Given the description of an element on the screen output the (x, y) to click on. 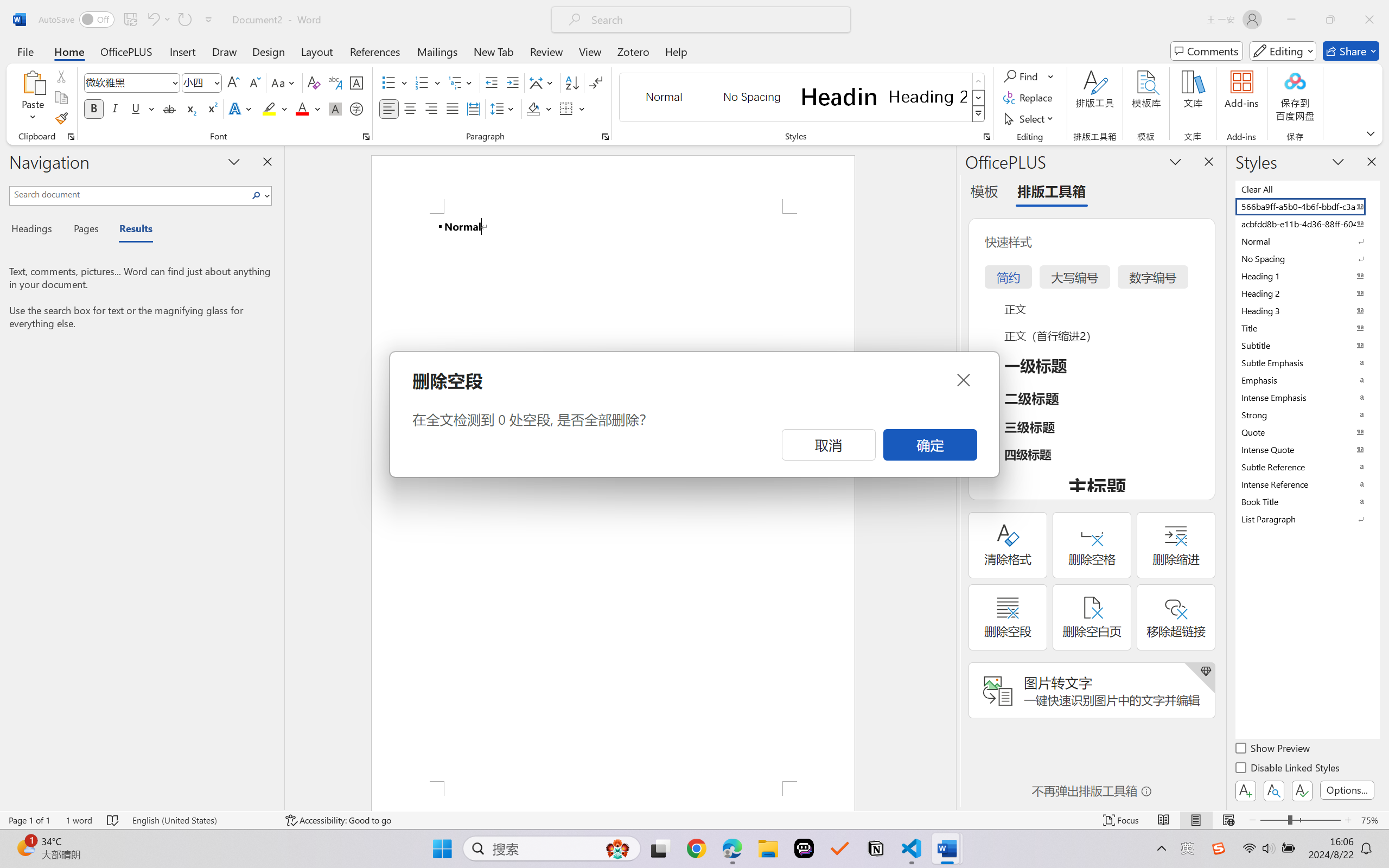
Align Left (388, 108)
Text Highlight Color (274, 108)
Replace... (1029, 97)
Show Preview (1273, 749)
More Options (1051, 75)
Italic (115, 108)
Styles (978, 113)
Heading 1 (839, 96)
Font... (365, 136)
